Given the description of an element on the screen output the (x, y) to click on. 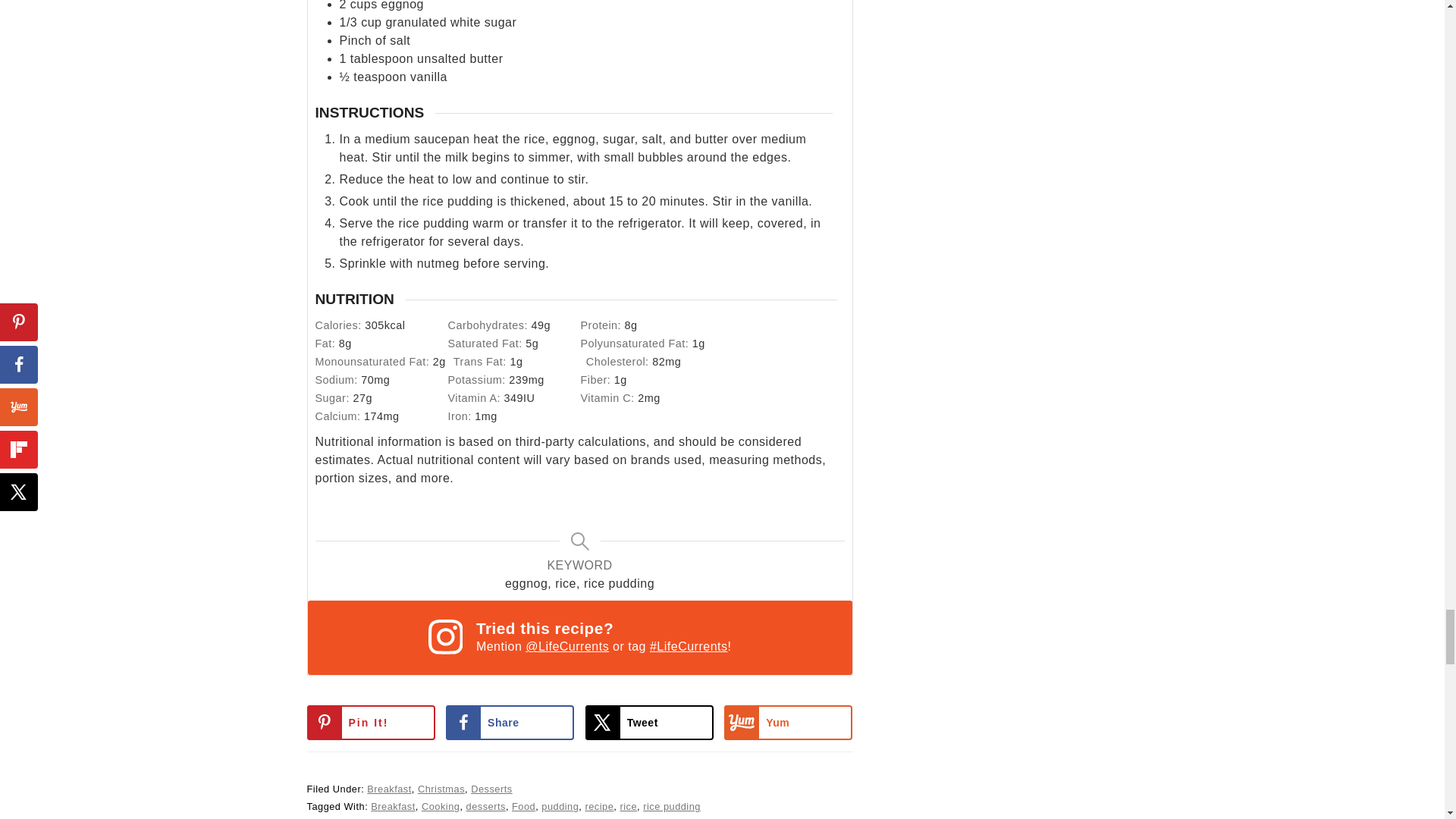
Save to Pinterest (369, 722)
Share on Facebook (509, 722)
Share on Yummly (787, 722)
Share on X (649, 722)
